Given the description of an element on the screen output the (x, y) to click on. 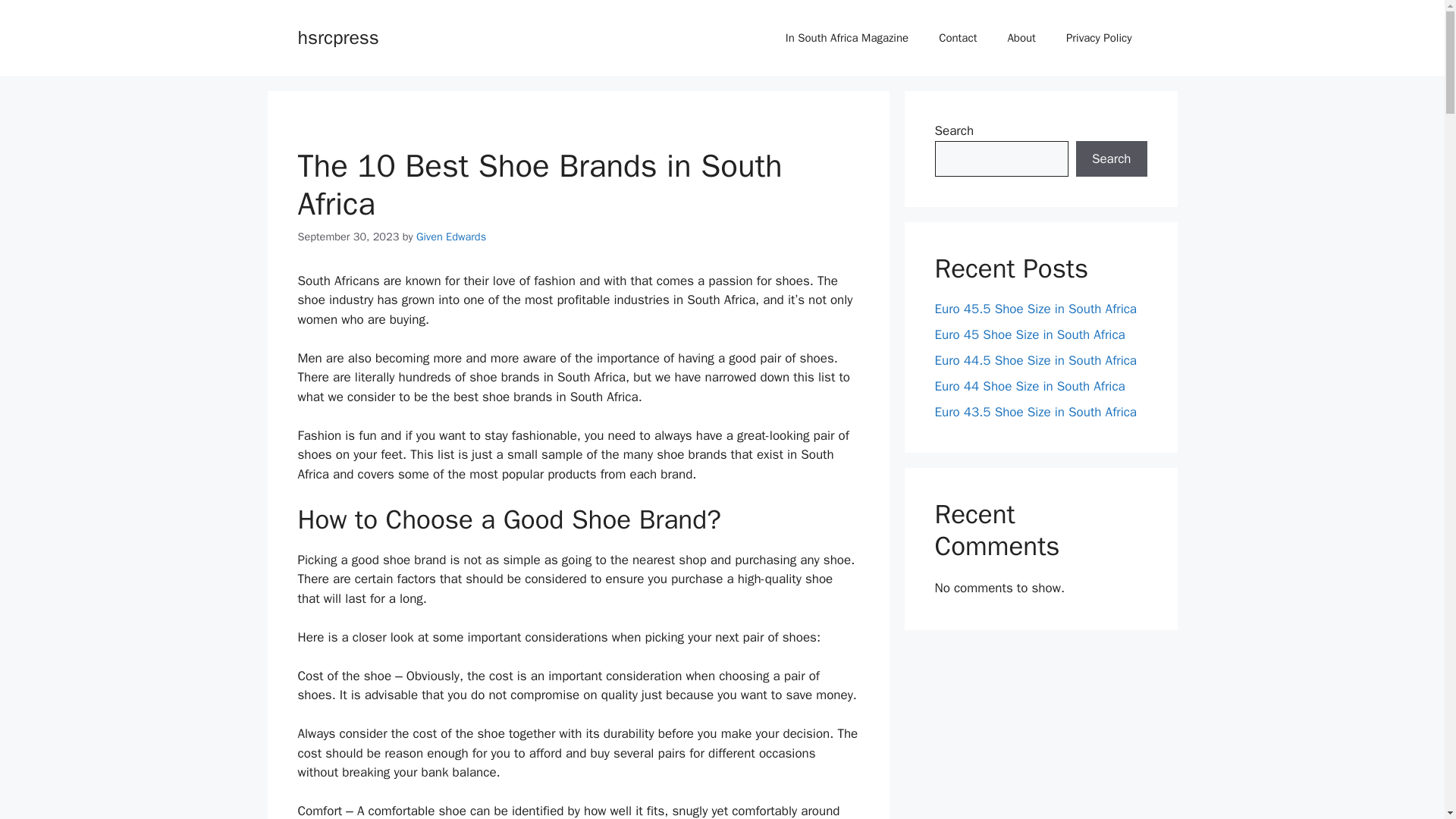
View all posts by Given Edwards (451, 236)
In South Africa Magazine (846, 37)
Search (1111, 158)
hsrcpress (337, 37)
Contact (957, 37)
Euro 44.5 Shoe Size in South Africa (1035, 360)
Euro 45 Shoe Size in South Africa (1029, 334)
About (1020, 37)
Euro 45.5 Shoe Size in South Africa (1035, 308)
Given Edwards (451, 236)
